Given the description of an element on the screen output the (x, y) to click on. 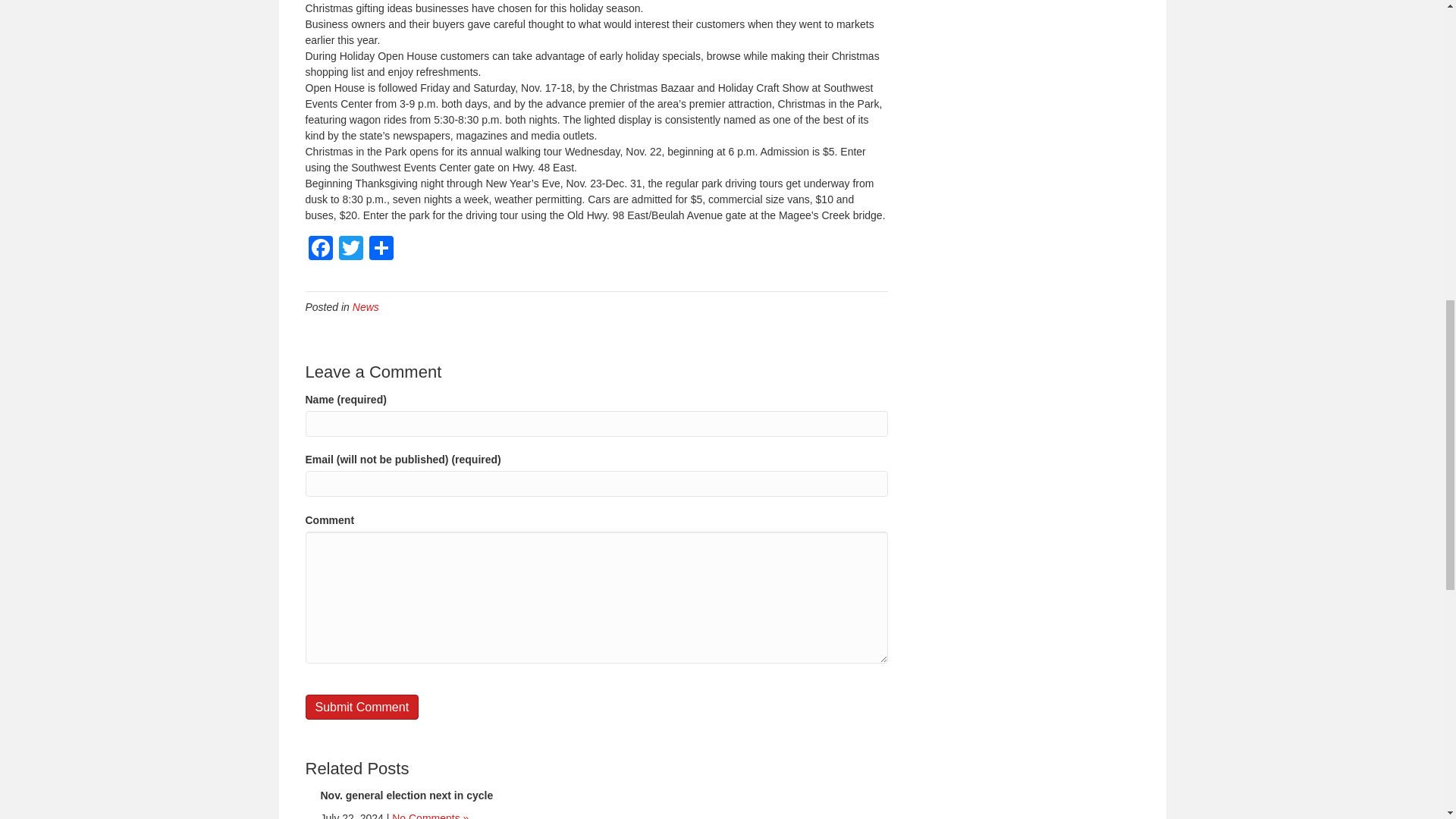
Submit Comment (361, 706)
Twitter (349, 249)
Twitter (349, 249)
Facebook (319, 249)
Nov. general election next in cycle (406, 794)
Facebook (319, 249)
